Given the description of an element on the screen output the (x, y) to click on. 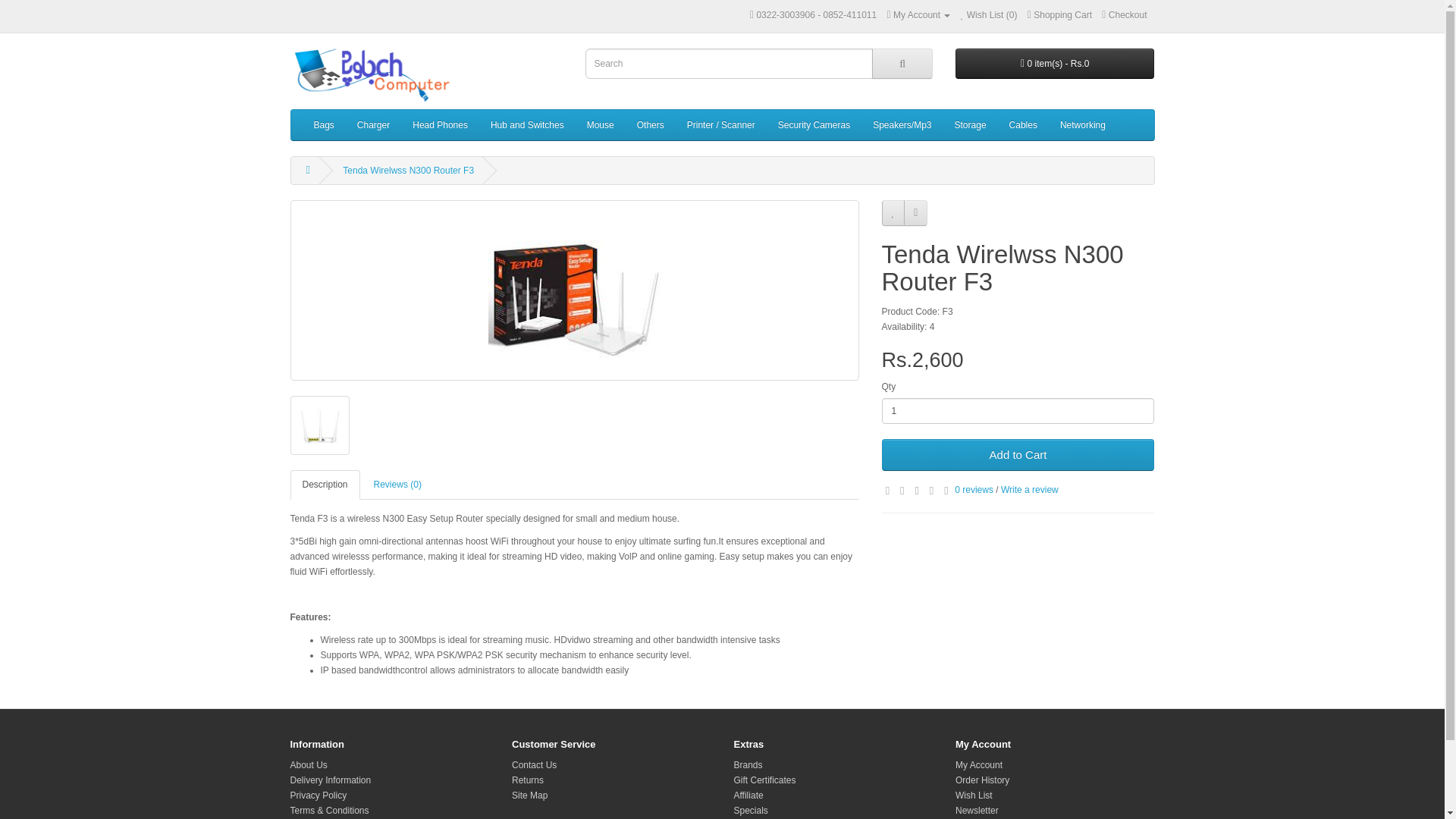
Description (324, 484)
0 reviews (973, 489)
Tenda Wirelwss N300 Router F3  (319, 425)
Add to Cart (1017, 454)
My Account (918, 14)
Mouse (600, 124)
Bags (323, 124)
Storage (970, 124)
My Account (918, 14)
Charger (373, 124)
